Given the description of an element on the screen output the (x, y) to click on. 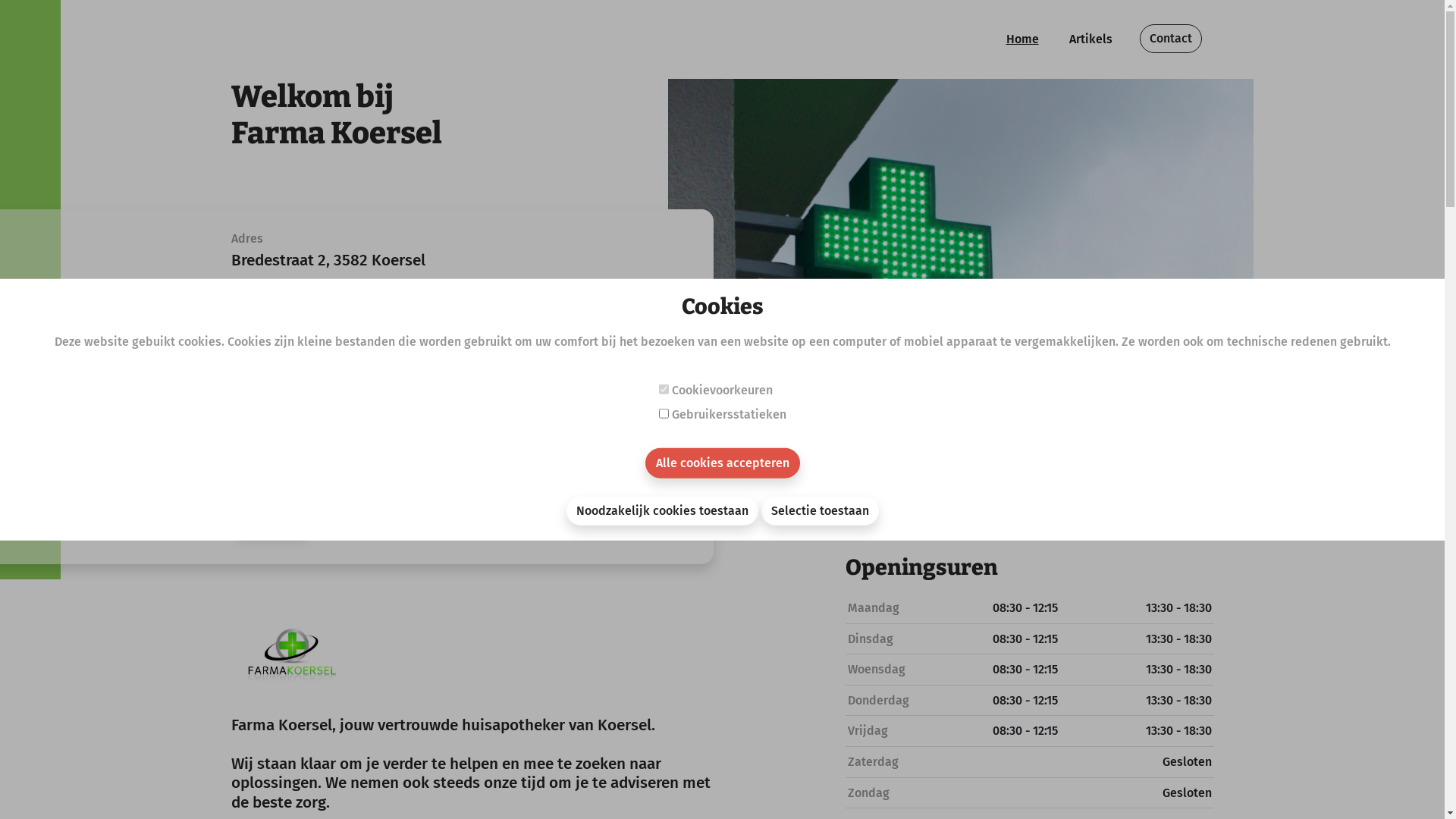
Selectie toestaan Element type: text (819, 509)
info@farmakoersel.be Element type: text (334, 417)
http://www.farmakoersel.be Element type: text (356, 449)
Home Element type: text (1021, 39)
Noodzakelijk cookies toestaan Element type: text (661, 509)
Contact Element type: text (1170, 38)
Bestel hier Element type: text (271, 518)
Artikels Element type: text (1090, 39)
Routebeschrijving Element type: text (295, 300)
Alle cookies accepteren Element type: text (721, 462)
